Given the description of an element on the screen output the (x, y) to click on. 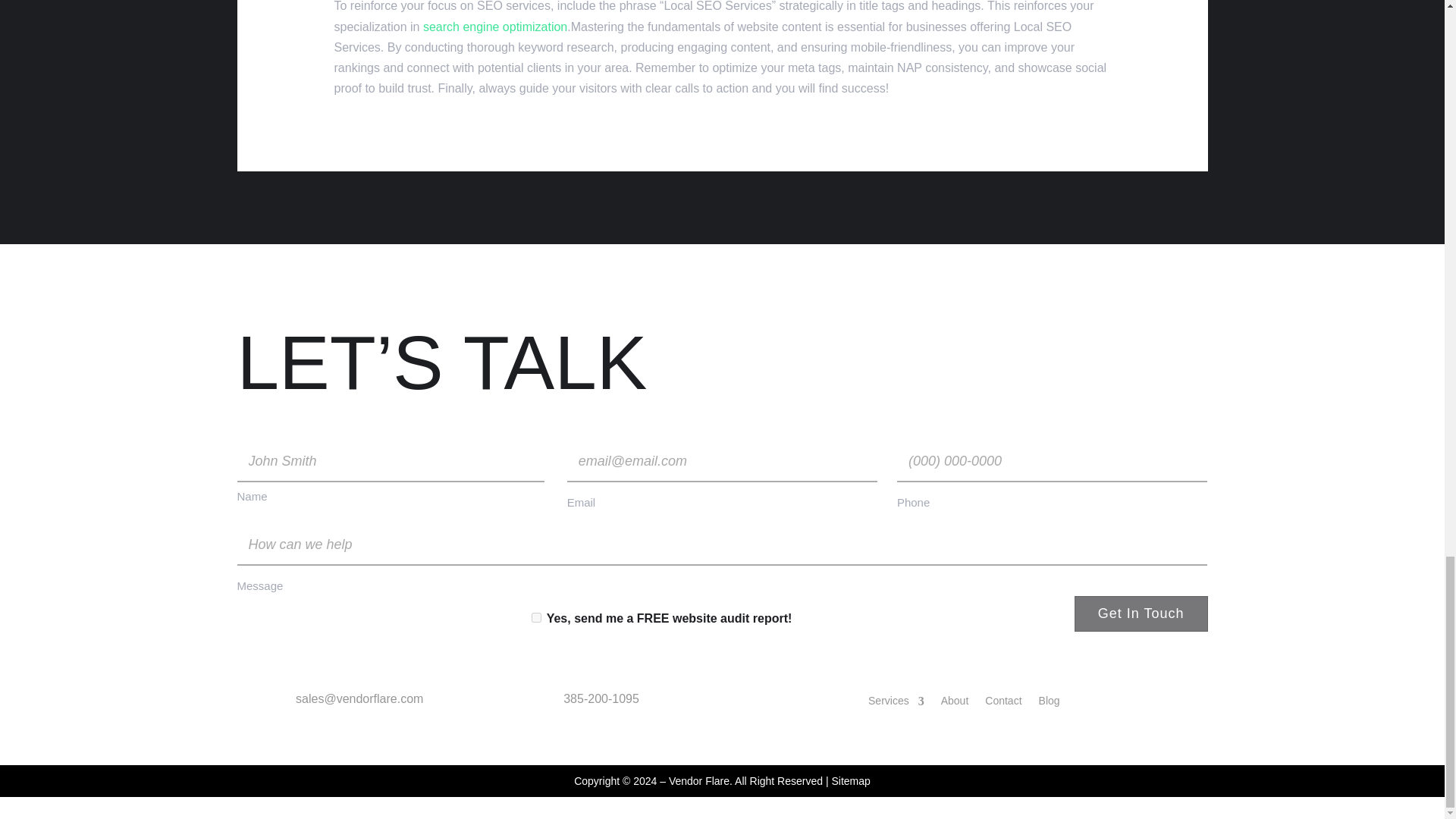
Get in touch (1141, 613)
search engine optimization (495, 26)
Contact (1003, 703)
About (954, 703)
Services (895, 703)
Sitemap (850, 780)
385-200-1095 (601, 698)
1 (535, 617)
Vendor Flare (698, 780)
Get in touch (1141, 613)
Blog (1049, 703)
